Given the description of an element on the screen output the (x, y) to click on. 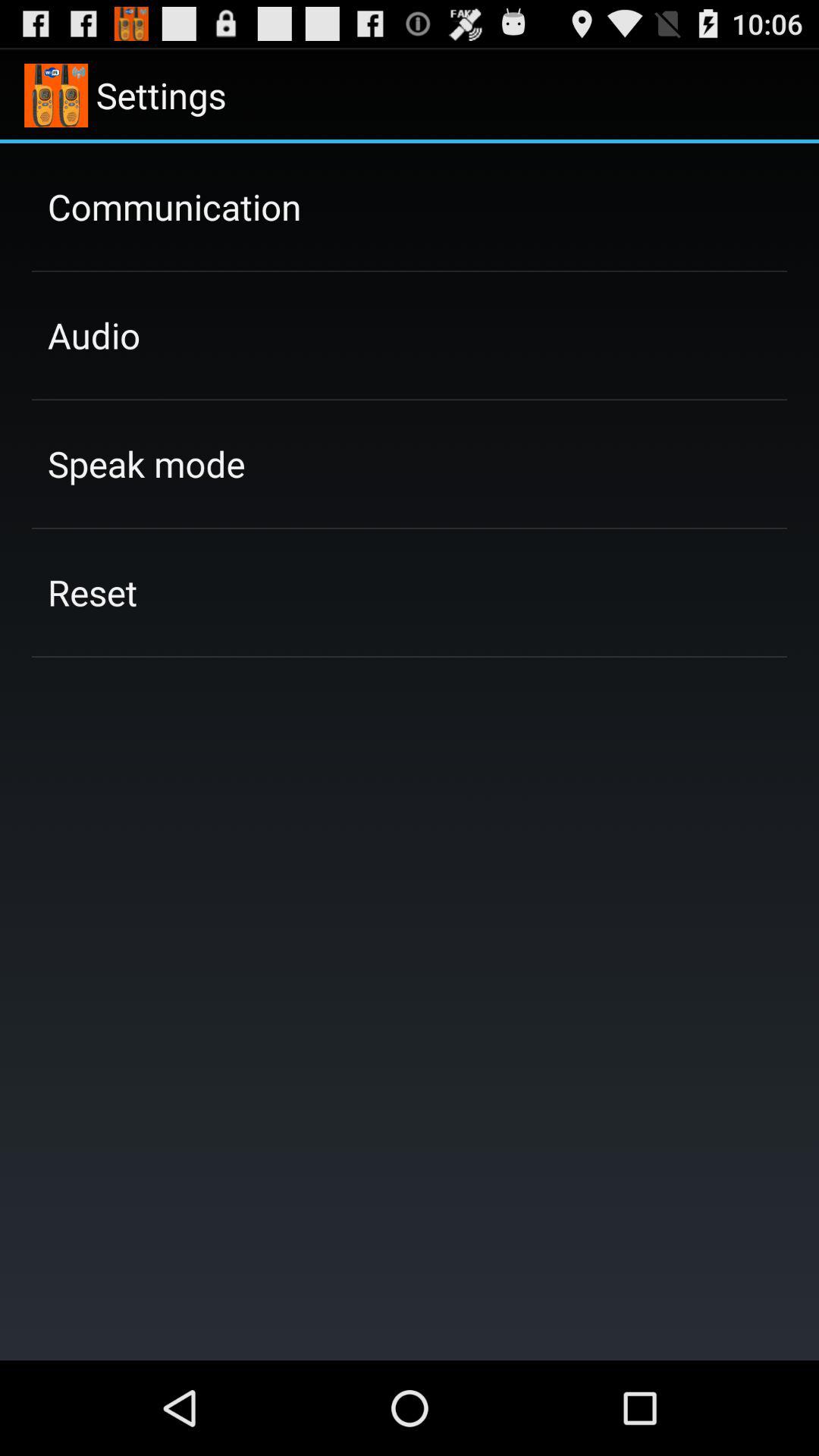
launch icon above speak mode icon (93, 335)
